Given the description of an element on the screen output the (x, y) to click on. 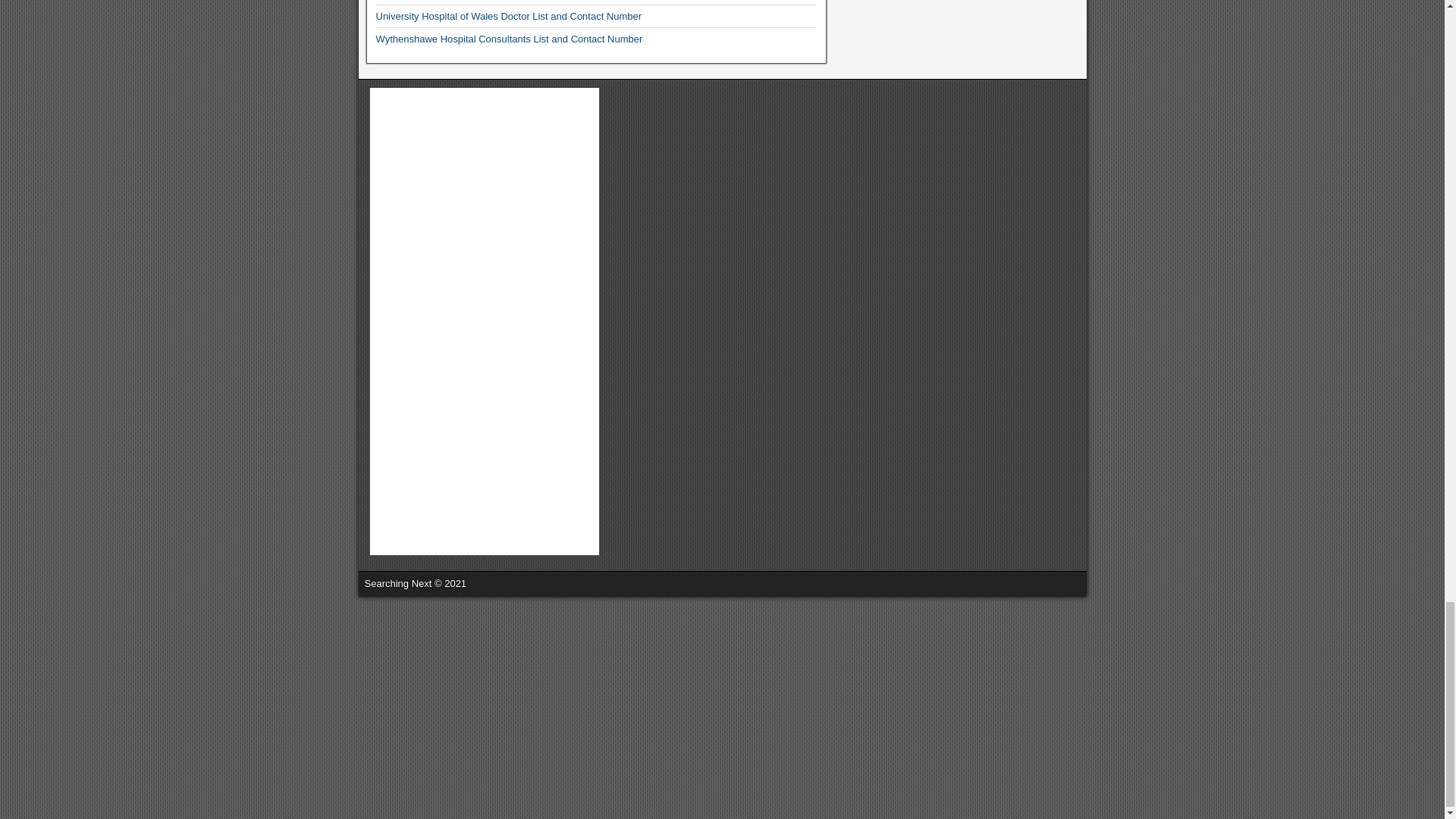
Wythenshawe Hospital Consultants List and Contact Number (509, 39)
University Hospital of Wales Doctor List and Contact Number (508, 16)
